Given the description of an element on the screen output the (x, y) to click on. 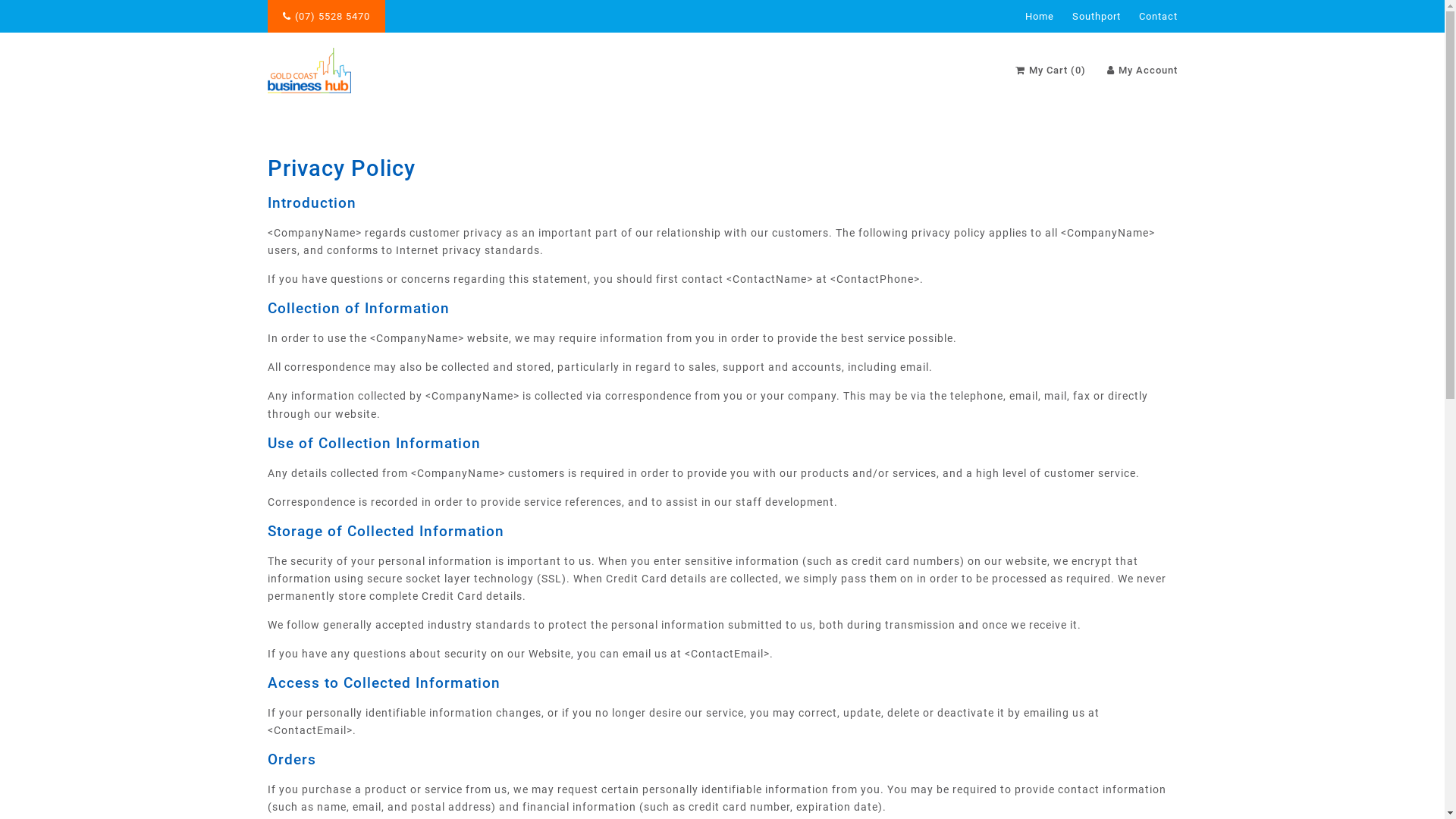
My Account Element type: text (1142, 69)
Contact Element type: text (1158, 16)
Gold Coast Business Hub Maylake Properties Pty Ltd Element type: hover (308, 70)
Home Element type: text (1039, 16)
(07) 5528 5470 Element type: text (325, 15)
